Given the description of an element on the screen output the (x, y) to click on. 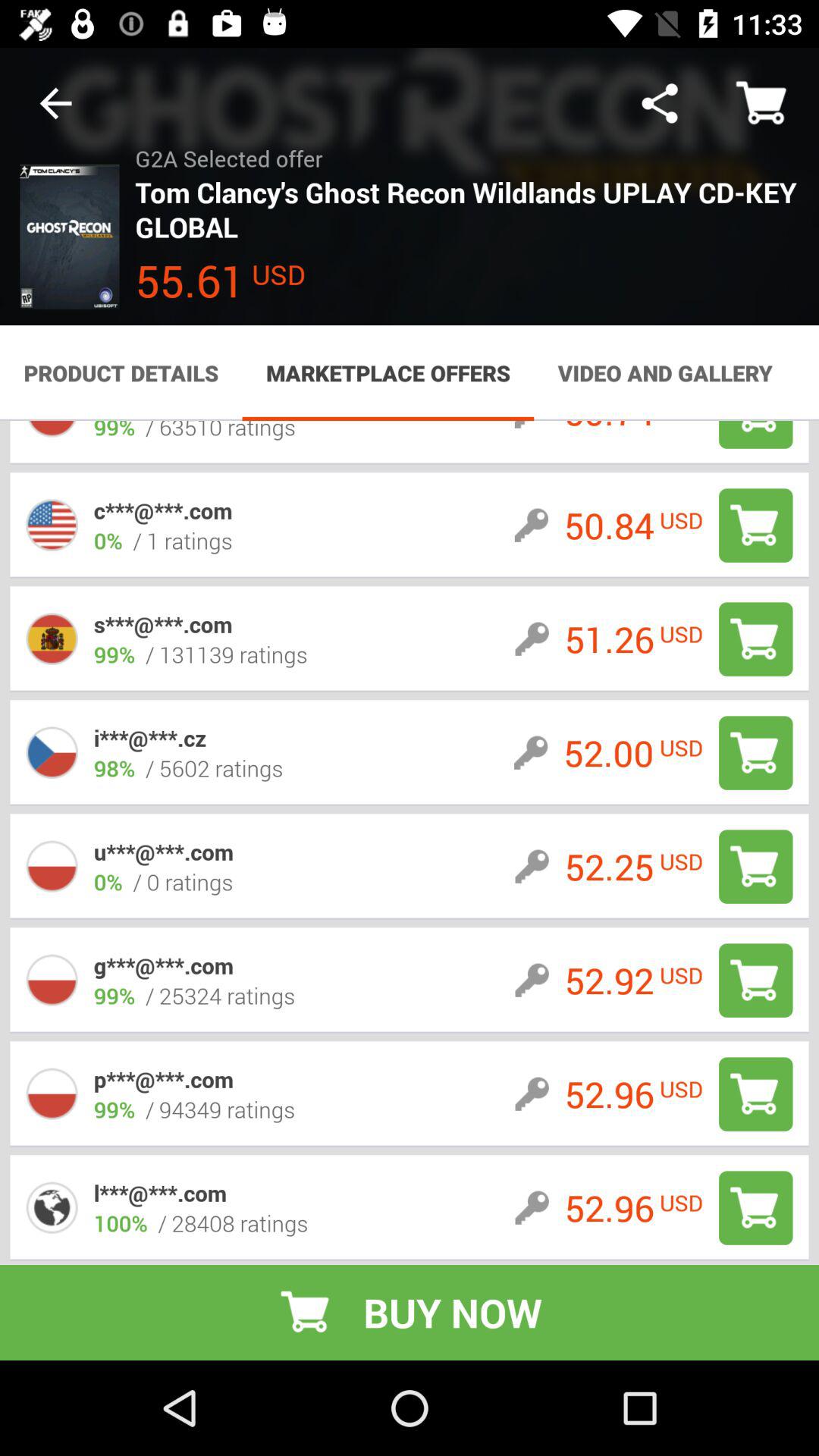
purchase now (755, 525)
